Given the description of an element on the screen output the (x, y) to click on. 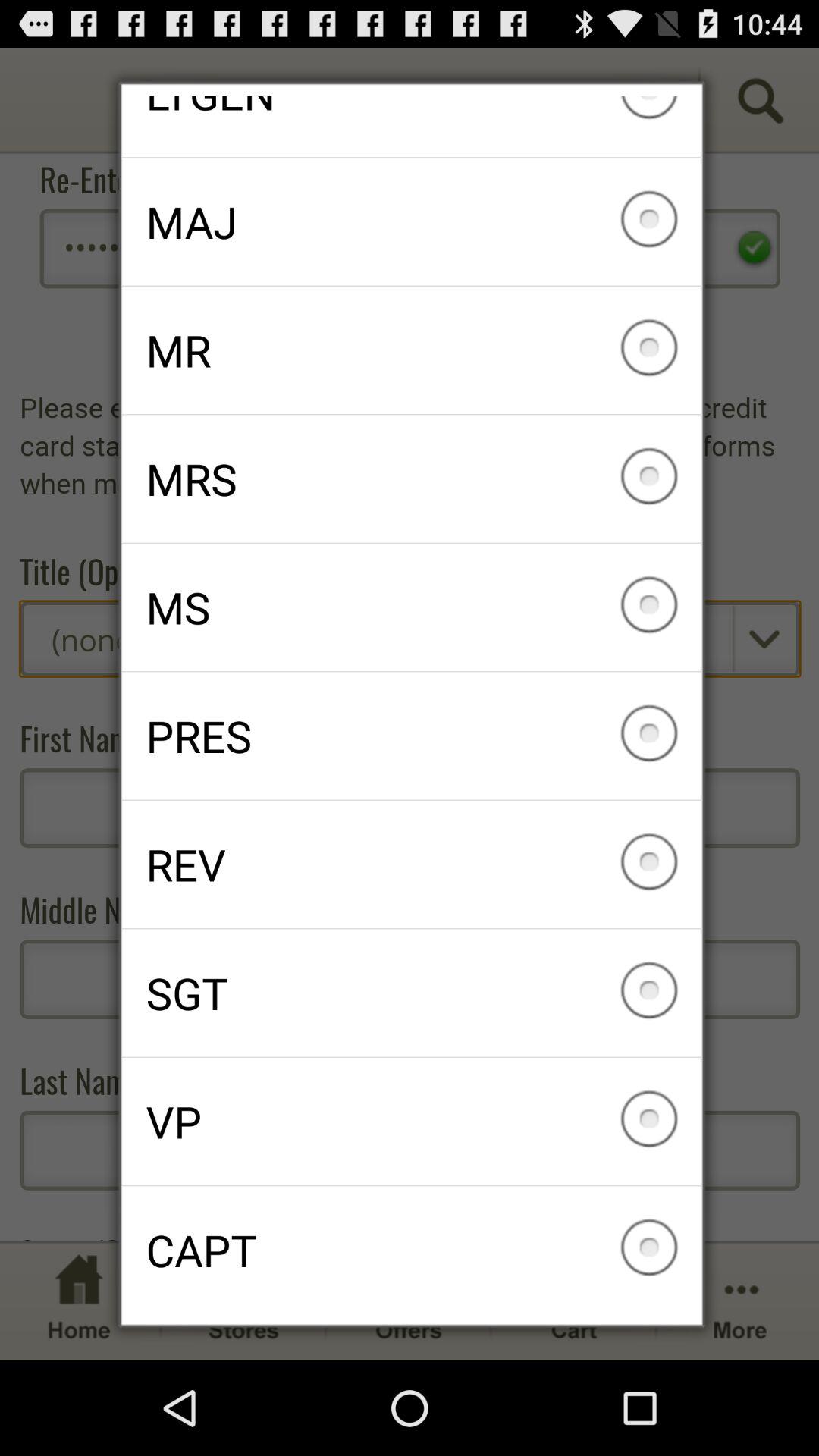
jump until mrs item (411, 478)
